Given the description of an element on the screen output the (x, y) to click on. 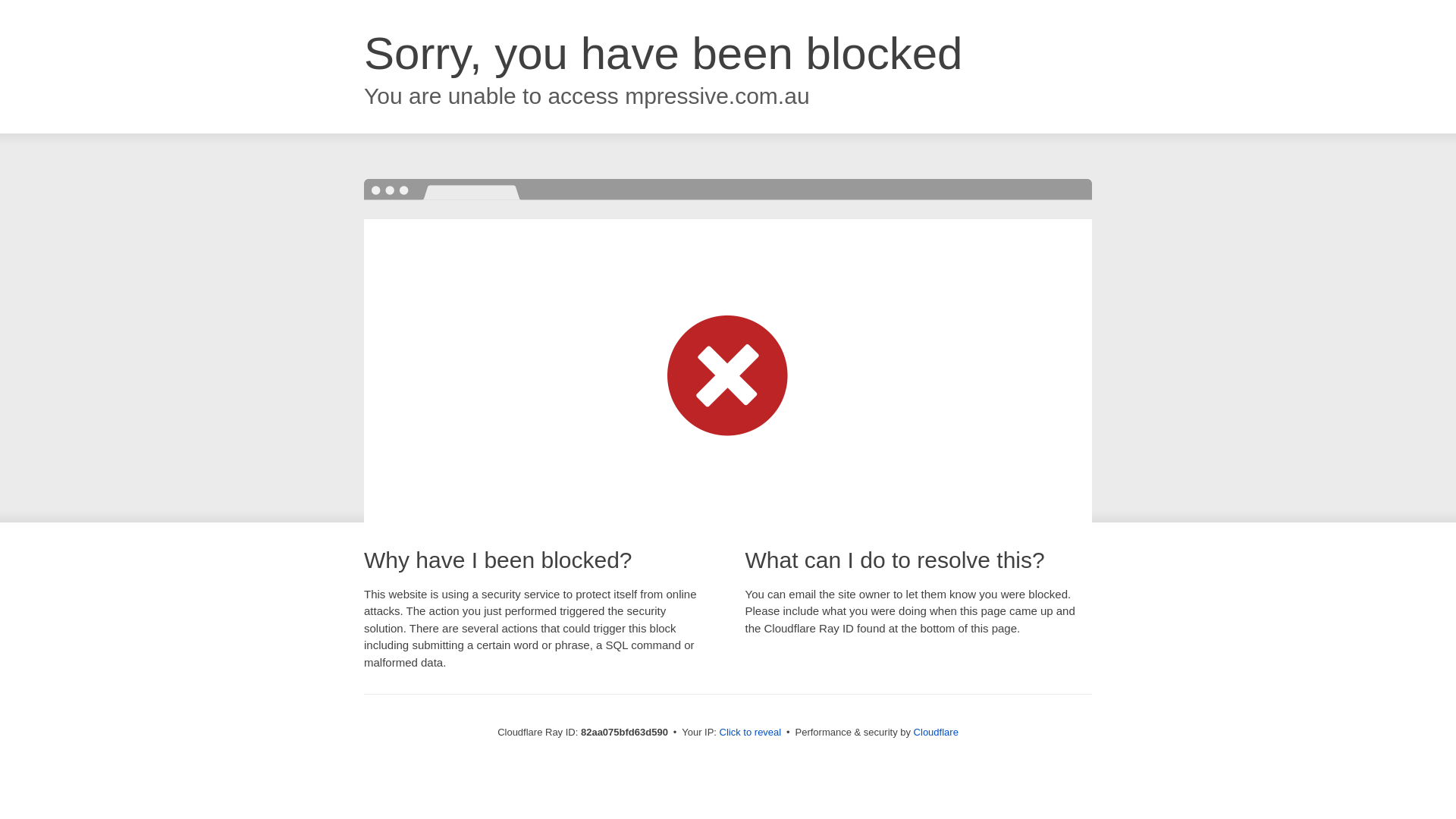
Cloudflare Element type: text (935, 731)
Click to reveal Element type: text (750, 732)
